Given the description of an element on the screen output the (x, y) to click on. 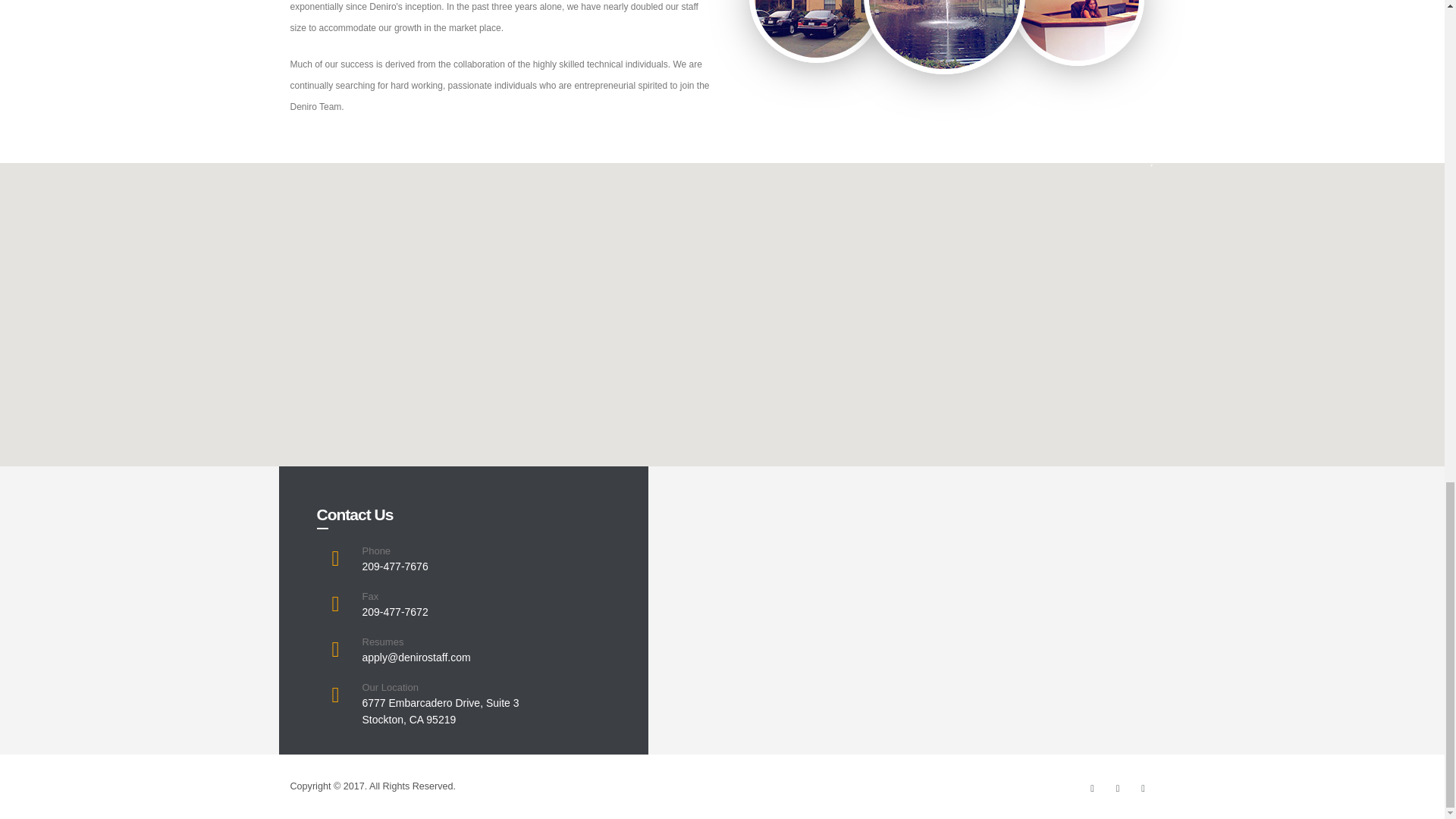
LinkedIn (1142, 788)
209-477-7676 (395, 566)
Facebook (1092, 788)
Google Maps (440, 710)
209-477-7672 (395, 612)
Twitter (1117, 788)
